Given the description of an element on the screen output the (x, y) to click on. 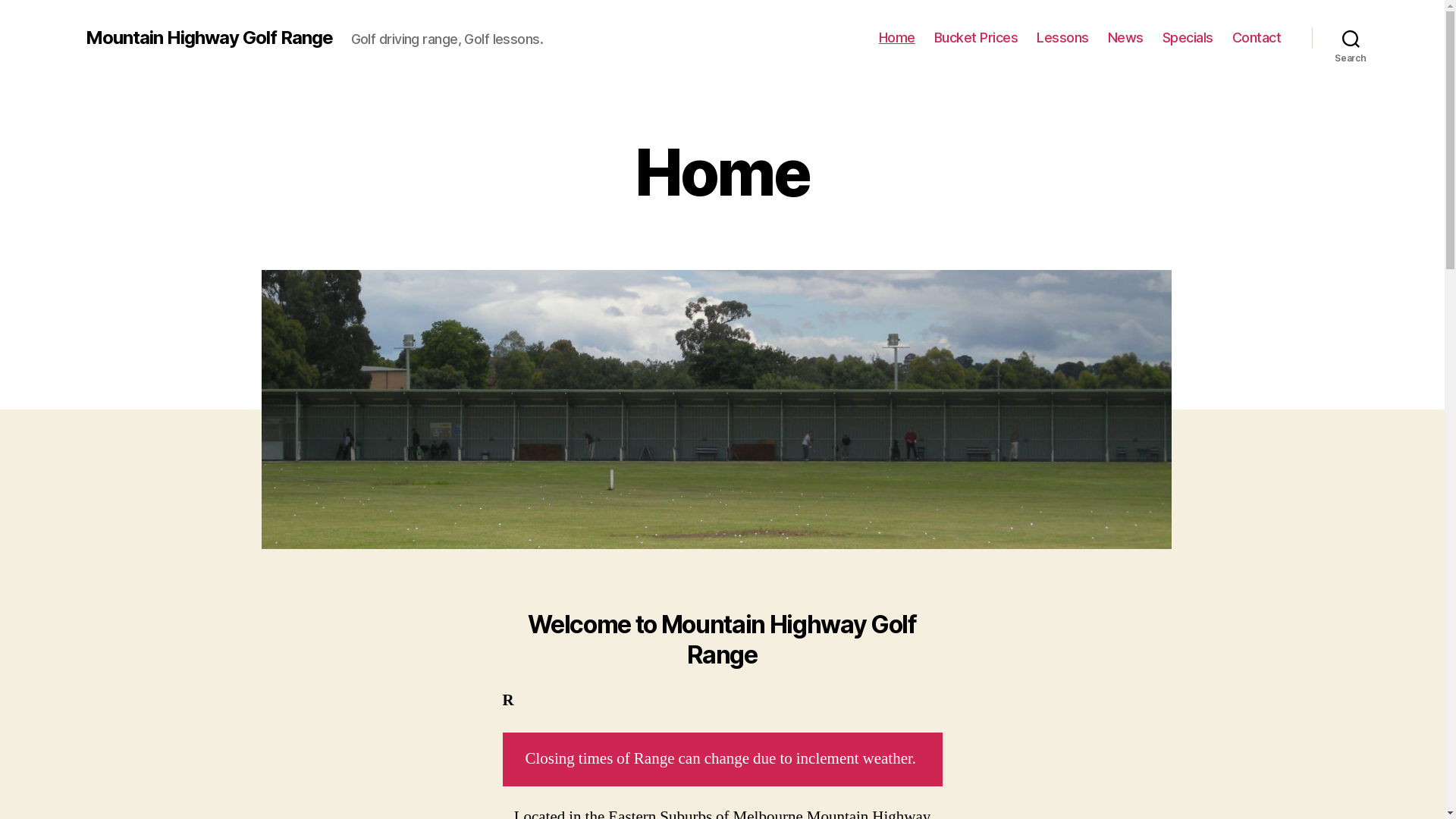
Contact Element type: text (1256, 37)
News Element type: text (1125, 37)
Search Element type: text (1350, 37)
Mountain Highway Golf Range Element type: text (208, 37)
Bucket Prices Element type: text (976, 37)
Lessons Element type: text (1062, 37)
Home Element type: text (896, 37)
Specials Element type: text (1187, 37)
